Given the description of an element on the screen output the (x, y) to click on. 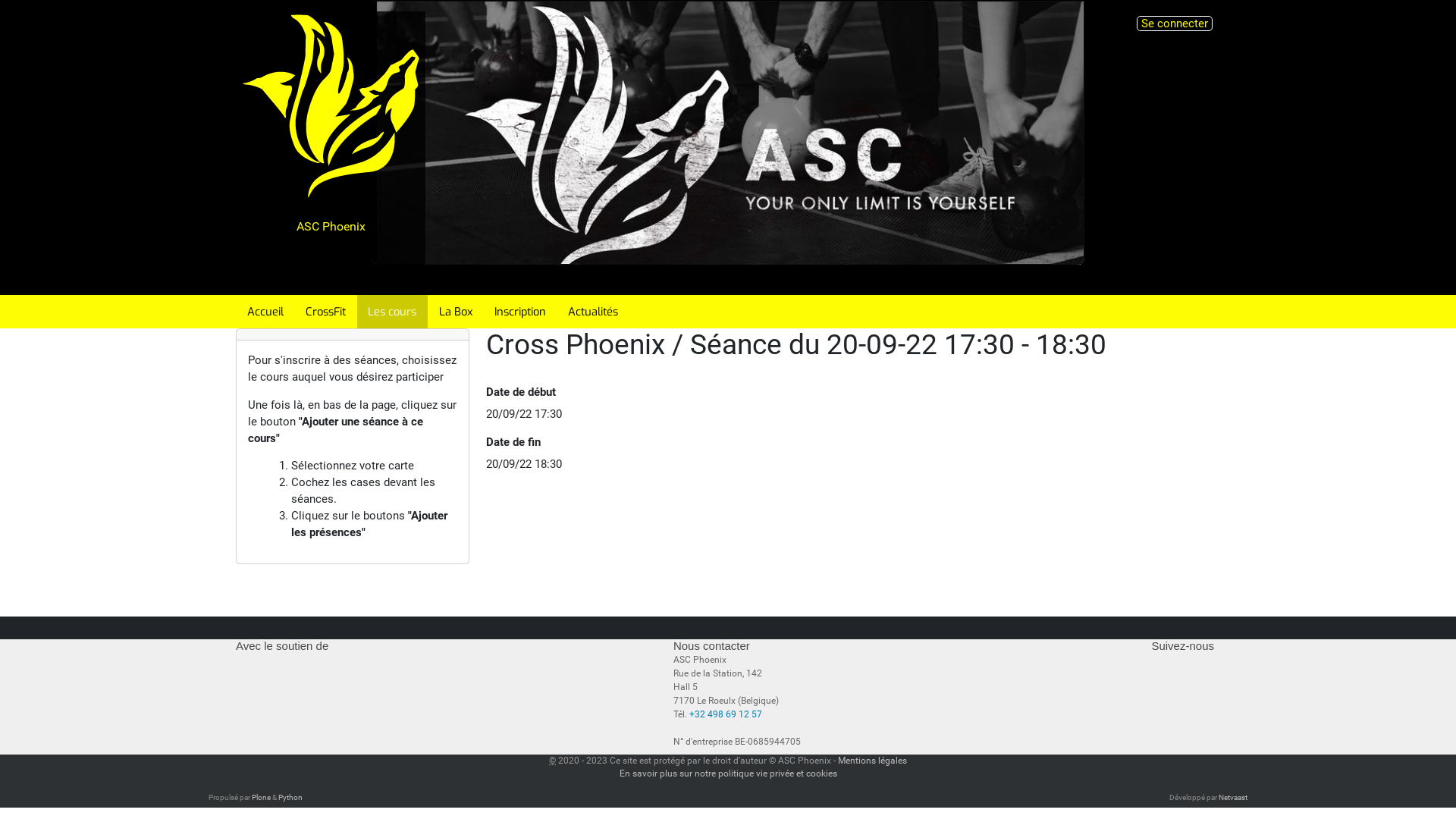
Netvaast Element type: text (1232, 797)
La Box Element type: text (455, 311)
Inscription Element type: text (519, 311)
Les cours Element type: text (392, 311)
Accueil Element type: text (264, 311)
asc-phenix Element type: hover (330, 105)
Plone Element type: text (260, 797)
Python Element type: text (290, 797)
+32 498 69 12 57 Element type: text (725, 714)
Se connecter Element type: text (1174, 23)
CrossFit Element type: text (325, 311)
ASC Phoenix Element type: text (330, 147)
